Given the description of an element on the screen output the (x, y) to click on. 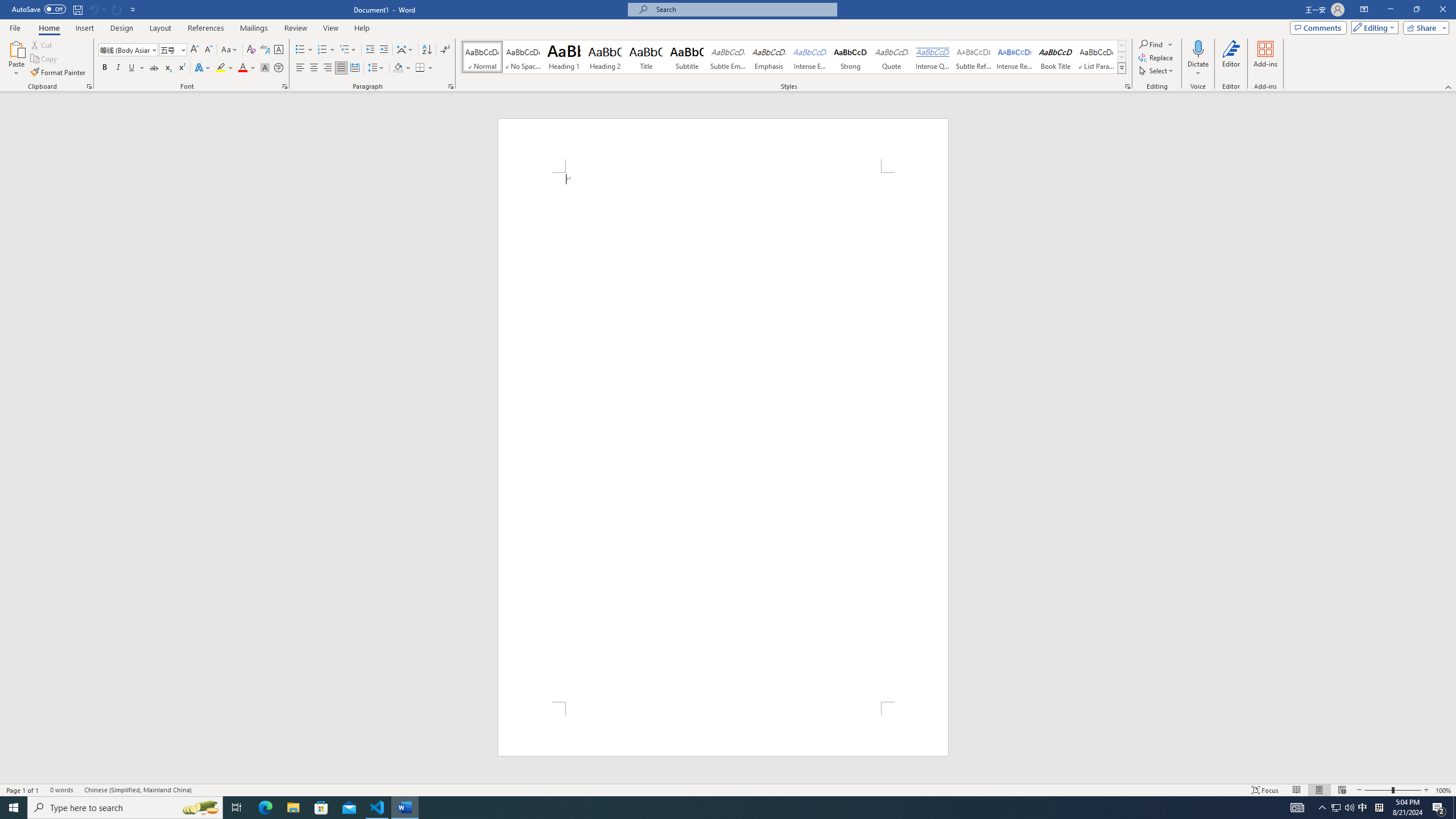
Intense Quote (932, 56)
